Given the description of an element on the screen output the (x, y) to click on. 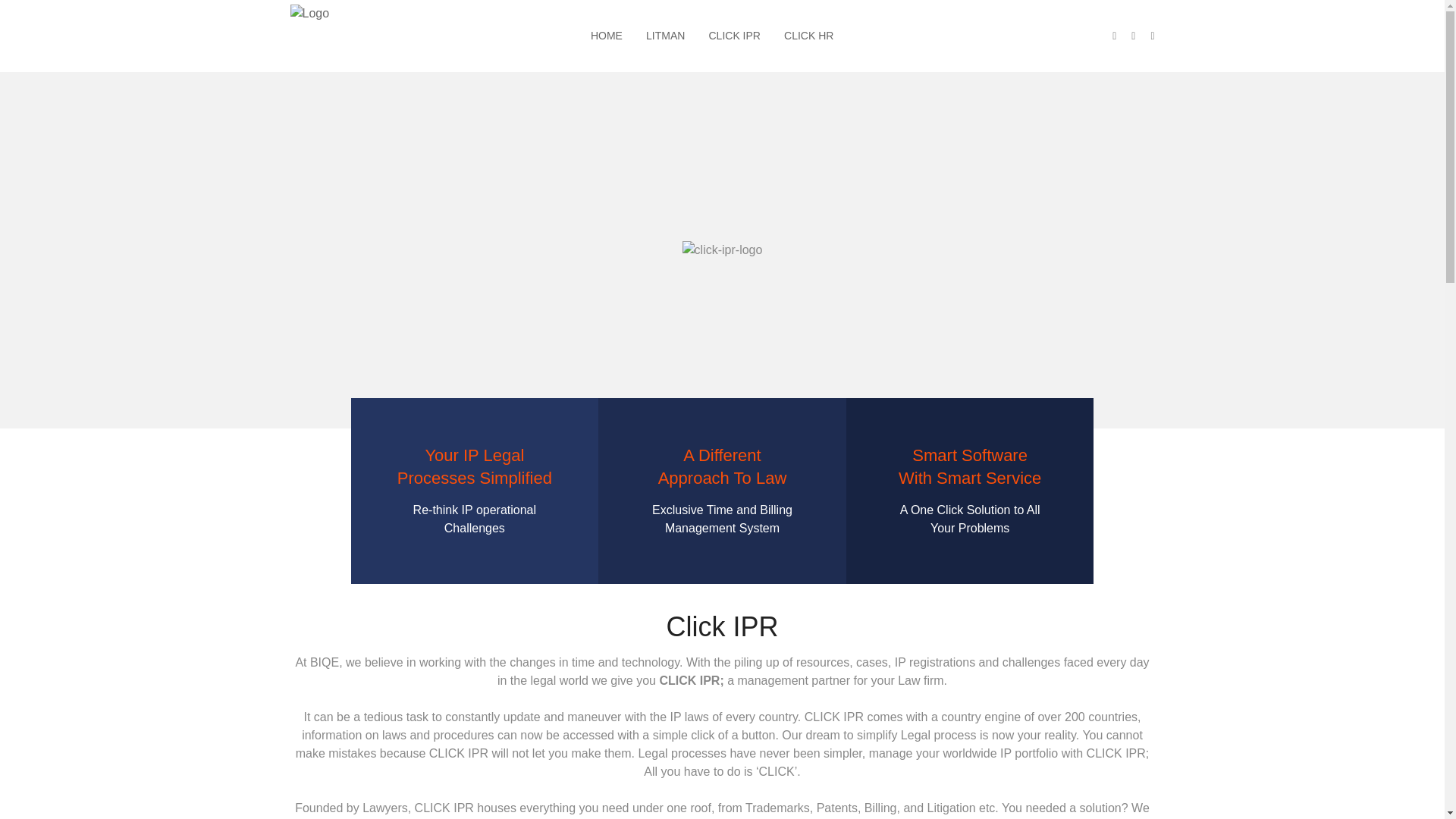
CLICK IPR (733, 35)
LITMAN (665, 35)
HOME (607, 35)
CLICK HR (808, 35)
